Given the description of an element on the screen output the (x, y) to click on. 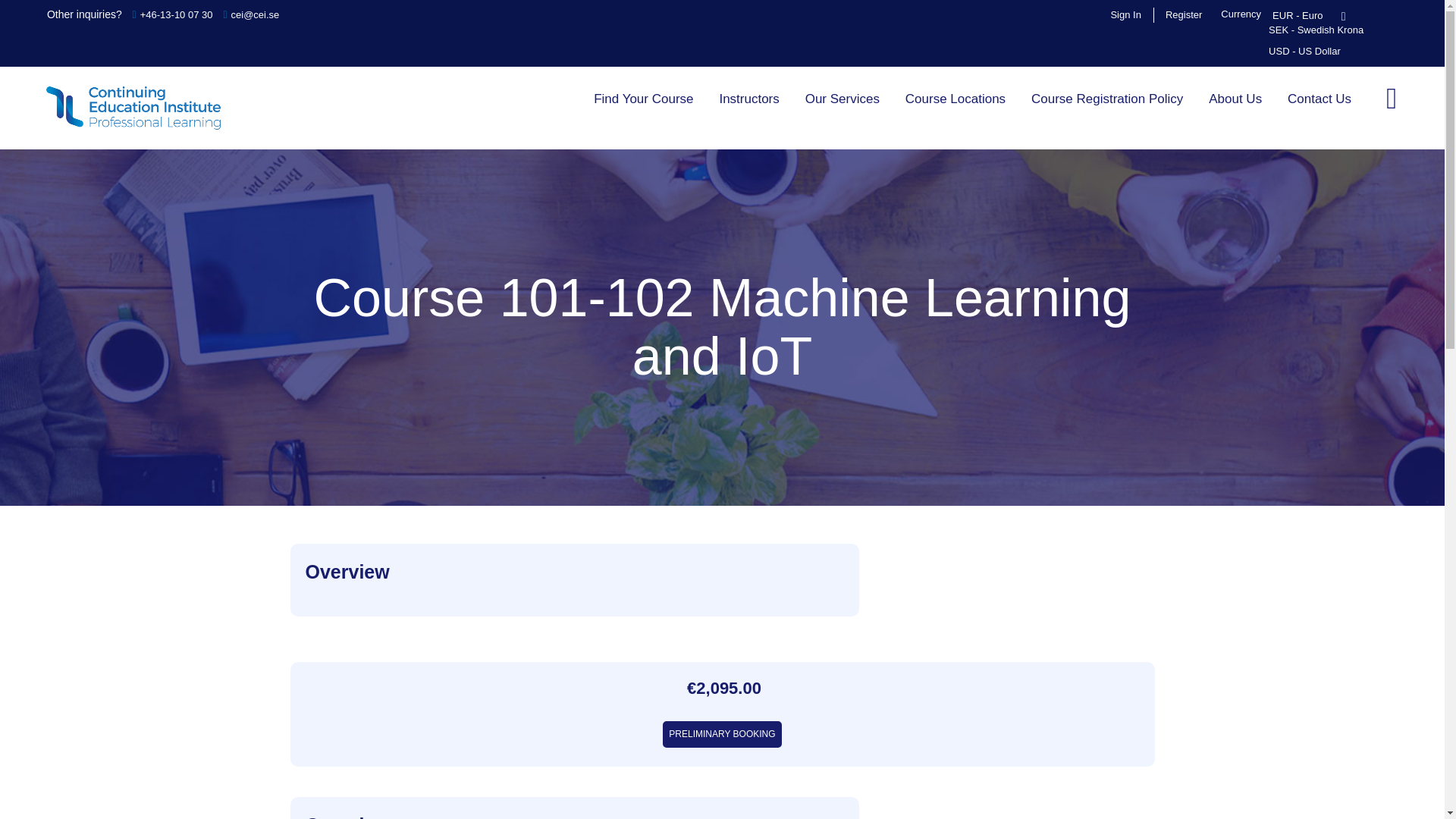
Sign In (1125, 14)
Register (1183, 14)
Contact Us (1319, 98)
CEI-BETA (133, 107)
Course Locations (954, 98)
Instructors (748, 98)
Course Registration Policy (1106, 98)
About Us (1234, 98)
USD - US Dollar (1304, 50)
Our Services (842, 98)
SEK - Swedish Krona (1316, 30)
PRELIMINARY BOOKING (721, 734)
Find Your Course (643, 98)
My Cart (1390, 97)
